Given the description of an element on the screen output the (x, y) to click on. 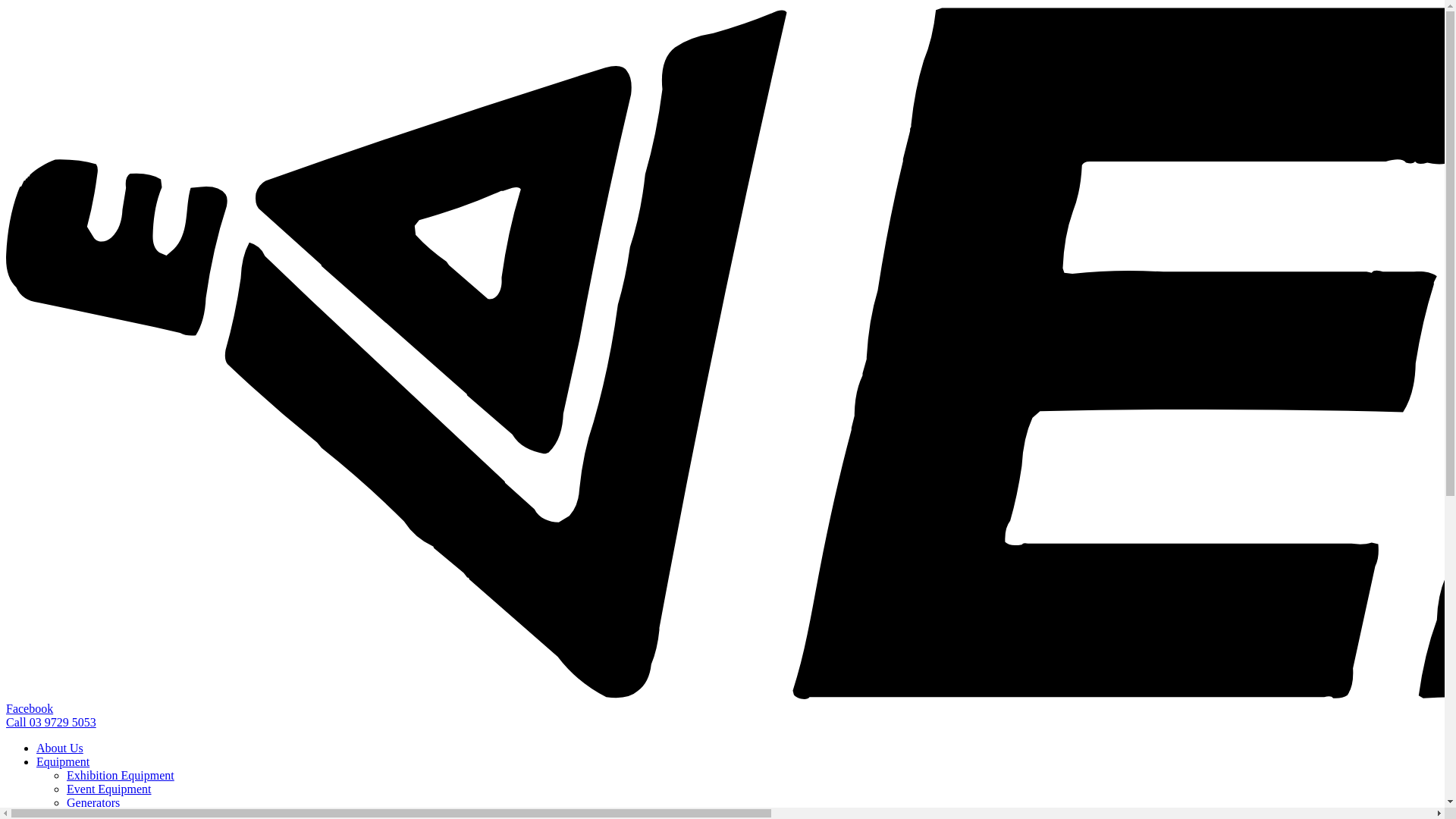
Event Equipment Element type: text (108, 788)
Facebook Element type: text (29, 708)
Call 03 9729 5053 Element type: text (51, 721)
Exhibition Equipment Element type: text (120, 774)
Equipment Element type: text (62, 761)
Generators Element type: text (92, 802)
About Us Element type: text (59, 747)
